Given the description of an element on the screen output the (x, y) to click on. 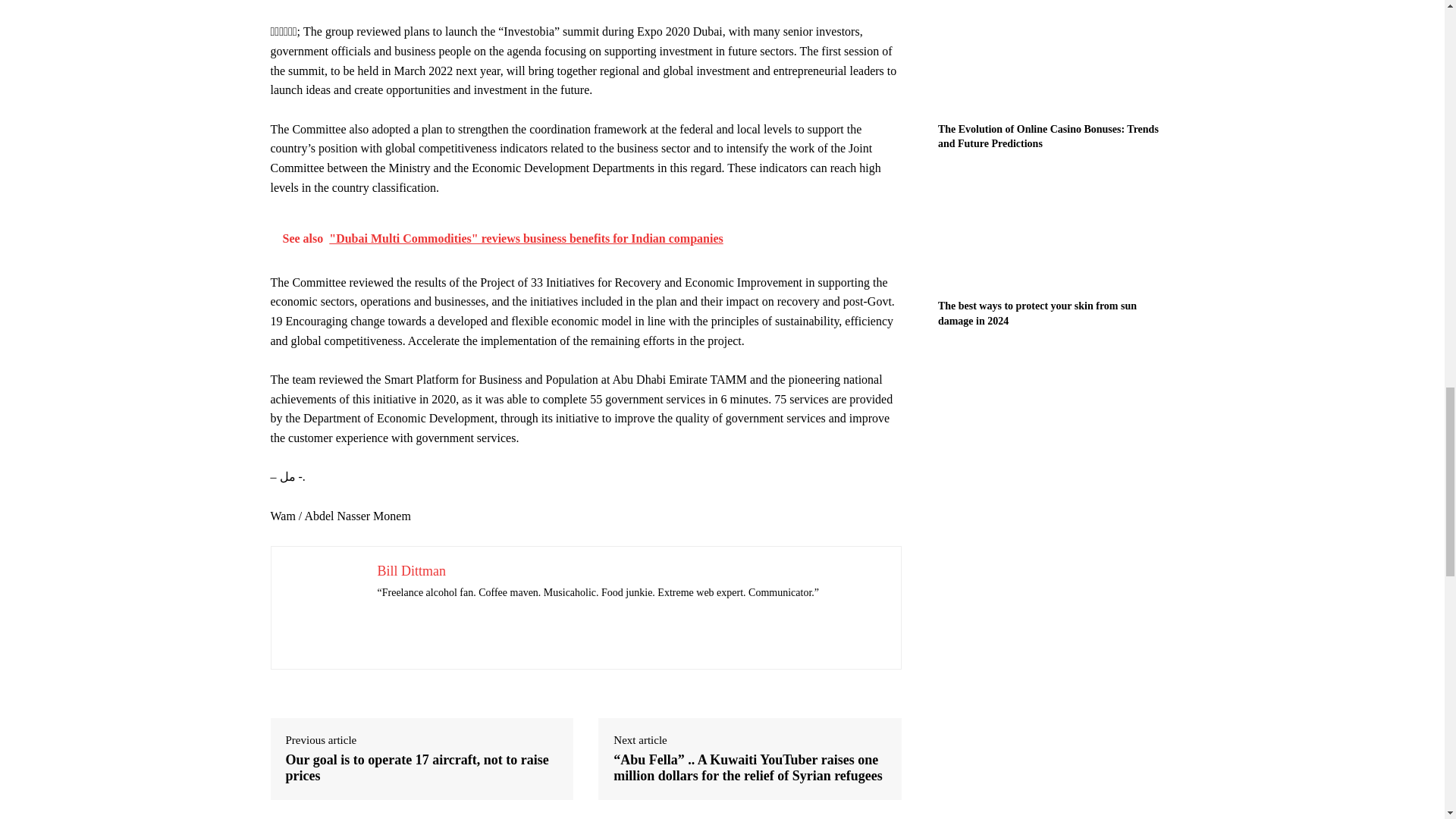
The best ways to protect your skin from sun damage in 2024 (1055, 230)
